Given the description of an element on the screen output the (x, y) to click on. 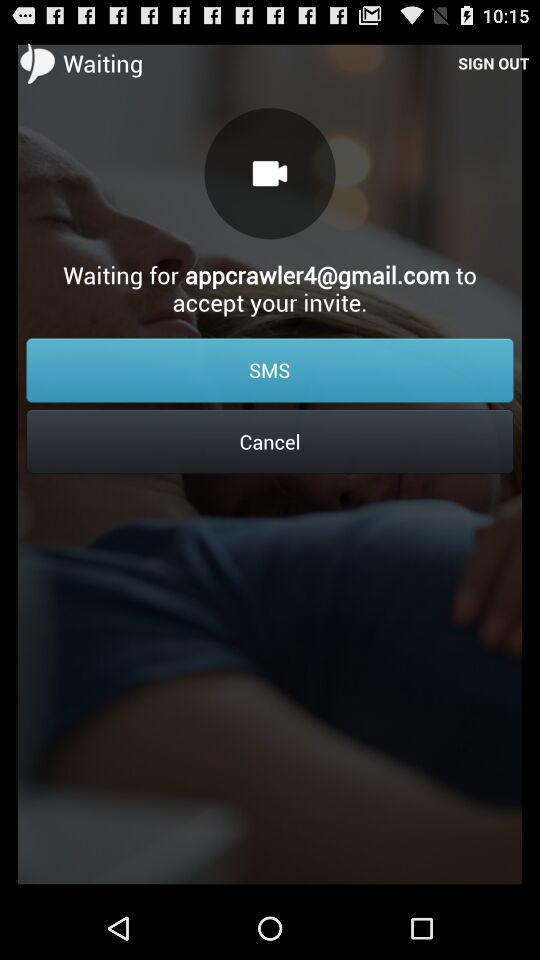
launch item above the cancel icon (269, 369)
